Given the description of an element on the screen output the (x, y) to click on. 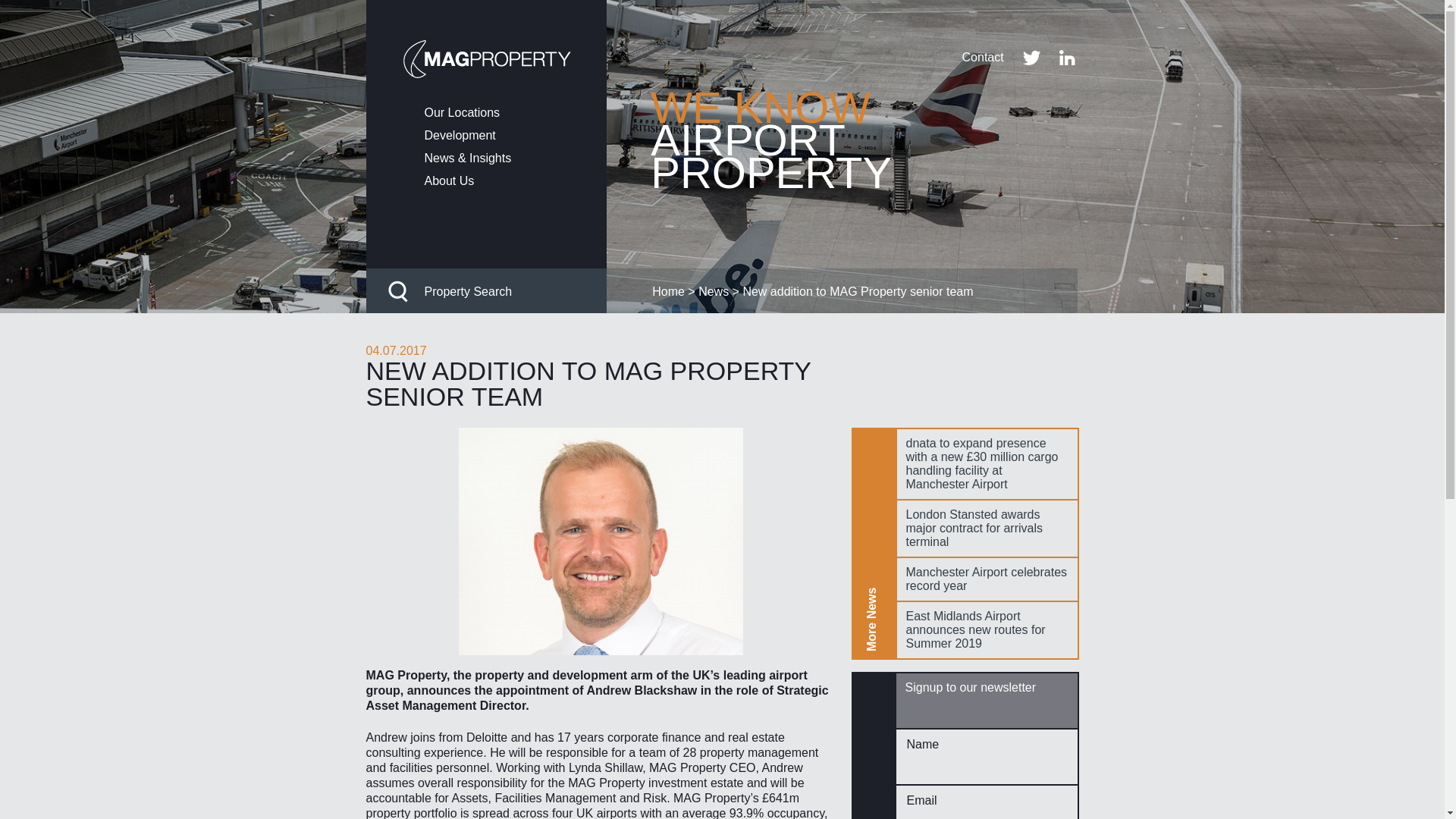
Linked (1068, 57)
About Us (516, 181)
Development (516, 135)
Twitter (1031, 57)
Contact (983, 57)
London Stansted awards major contract for arrivals terminal (987, 528)
East Midlands Airport announces new routes for Summer 2019 (987, 630)
Our Locations (516, 112)
Property Search (486, 290)
Manchester Airport celebrates record year (987, 579)
MAG Property (486, 45)
News (713, 291)
Home (668, 291)
